Given the description of an element on the screen output the (x, y) to click on. 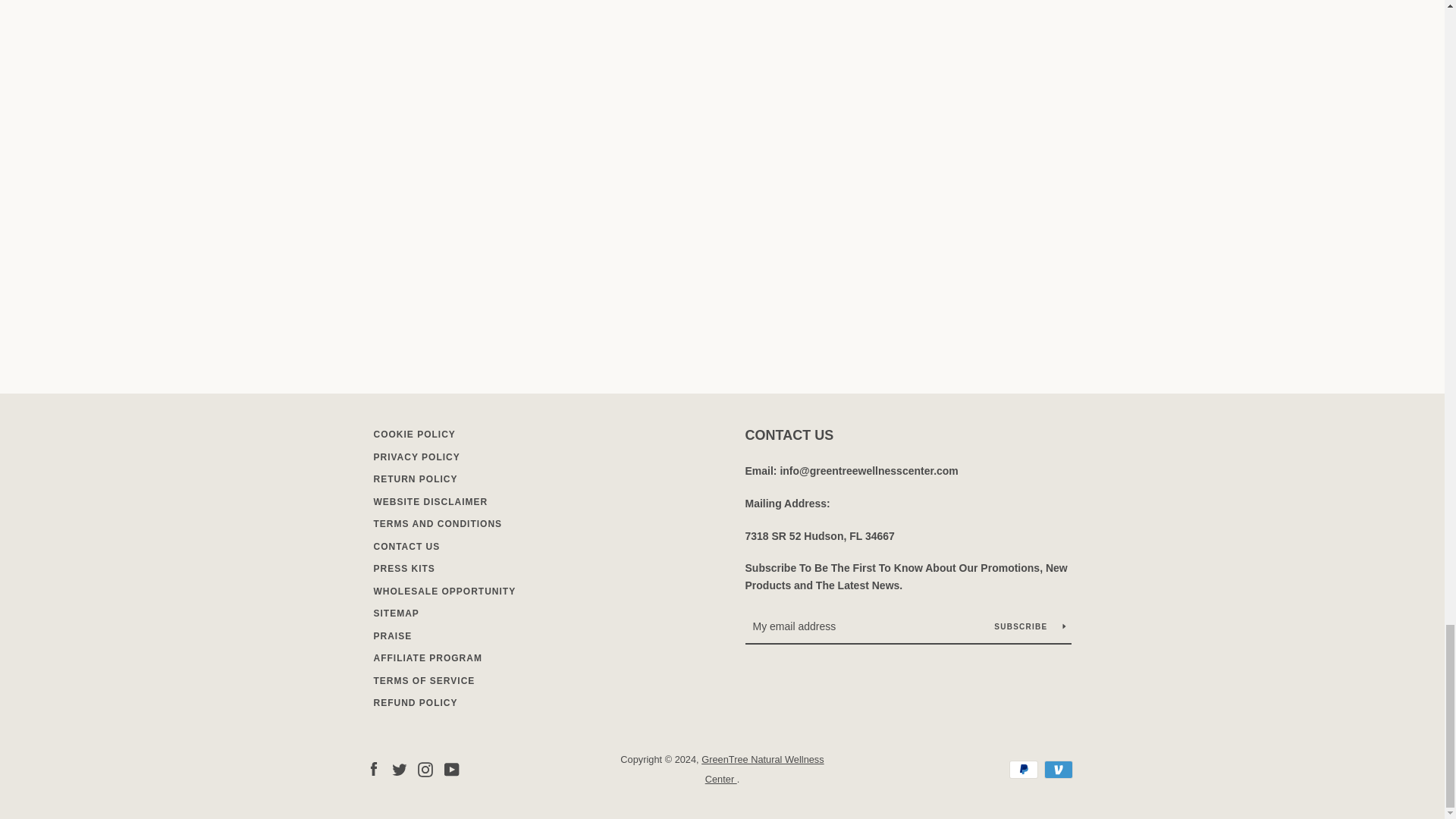
PayPal (1022, 769)
GreenTree Natural Wellness Center  on Facebook (372, 768)
Venmo (1057, 769)
GreenTree Natural Wellness Center  on Instagram (424, 768)
GreenTree Natural Wellness Center  on Twitter (399, 768)
GreenTree Natural Wellness Center  on YouTube (452, 768)
